Given the description of an element on the screen output the (x, y) to click on. 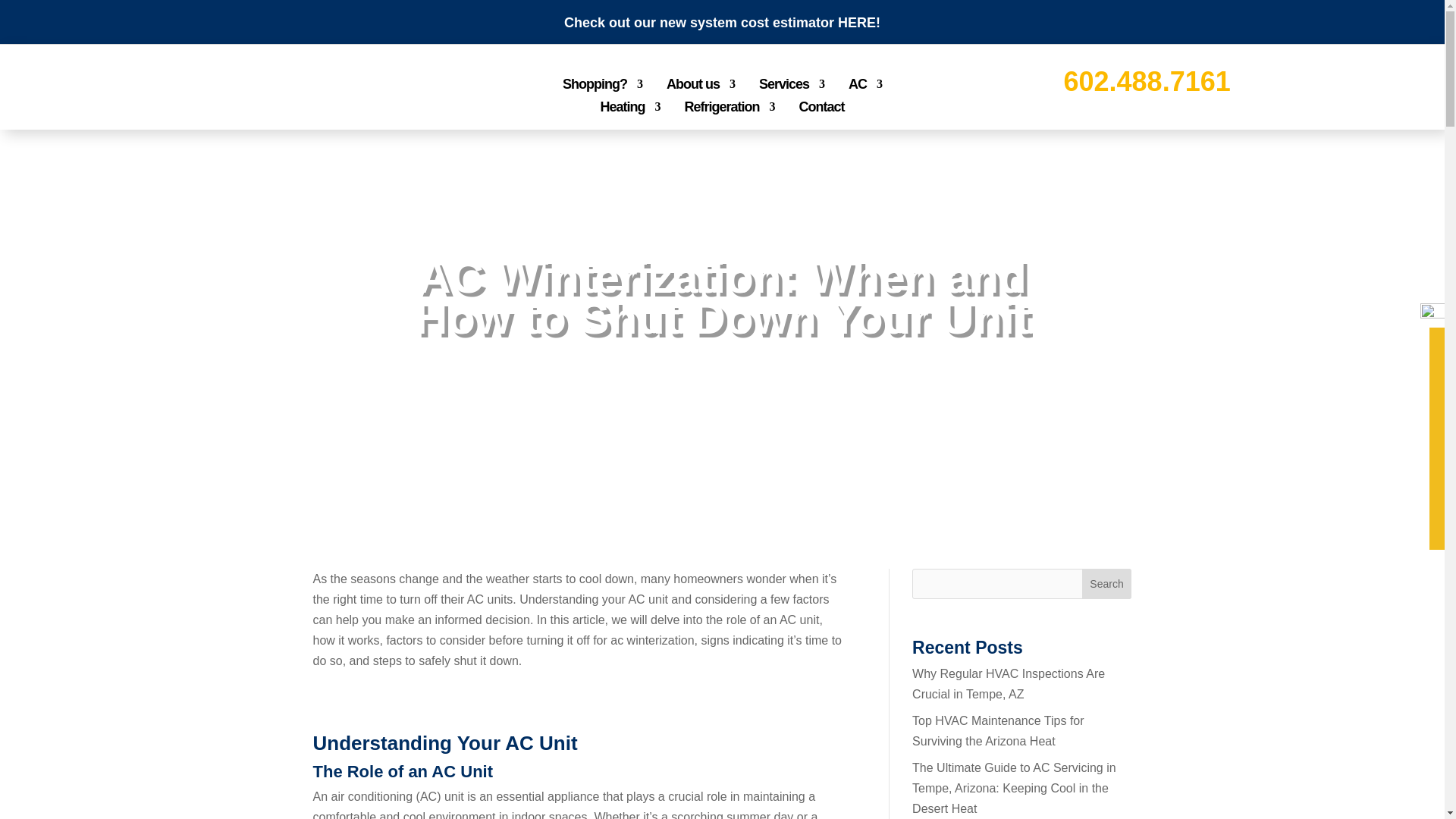
Contact (821, 109)
About us (700, 86)
Search (1106, 583)
Top HVAC Maintenance Tips for Surviving the Arizona Heat (997, 730)
Services (791, 86)
Heating (765, 355)
Heating (629, 109)
Why Regular HVAC Inspections Are Crucial in Tempe, AZ (1008, 684)
Shopping? (602, 86)
